Given the description of an element on the screen output the (x, y) to click on. 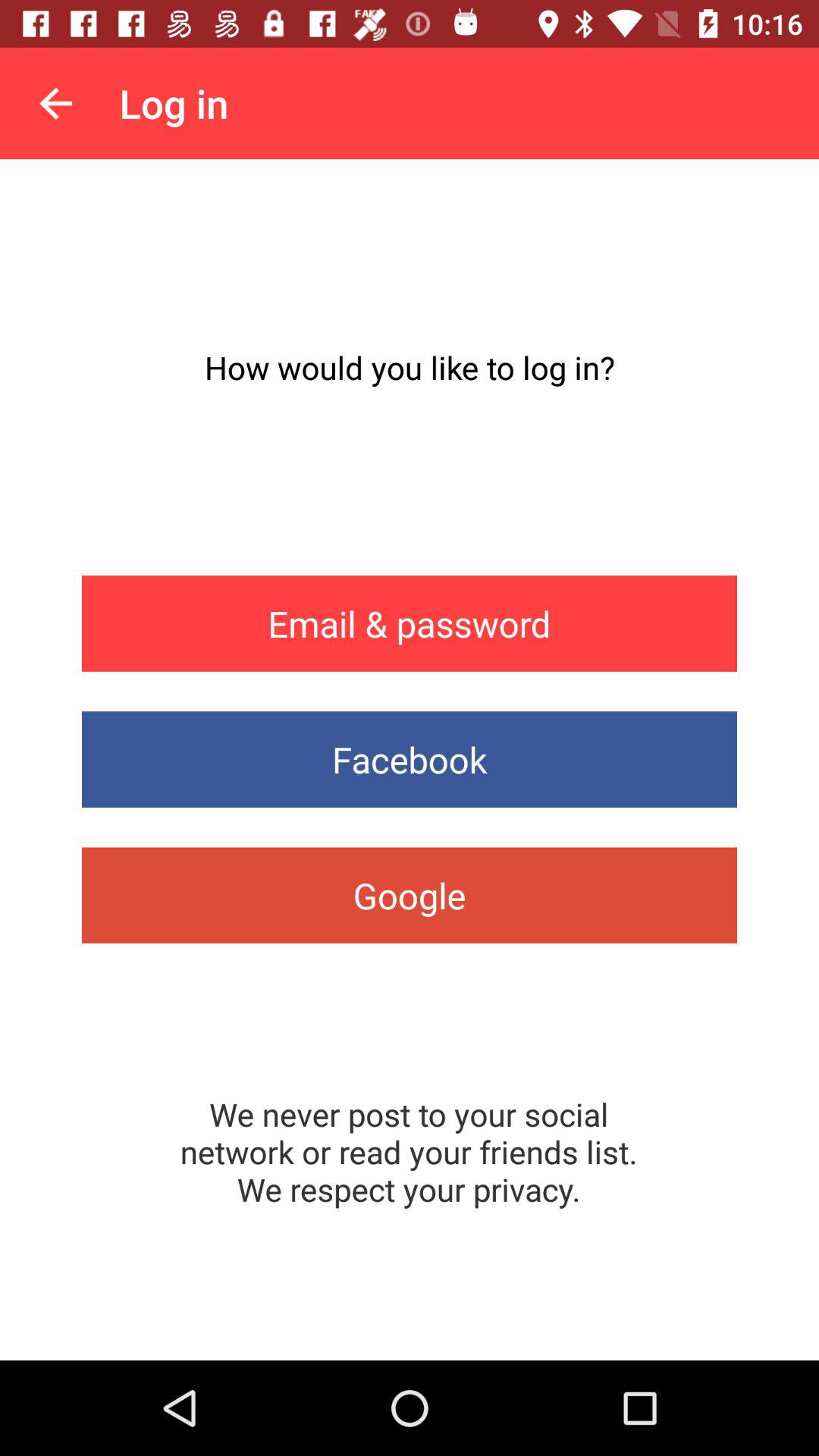
choose item below facebook icon (409, 895)
